Given the description of an element on the screen output the (x, y) to click on. 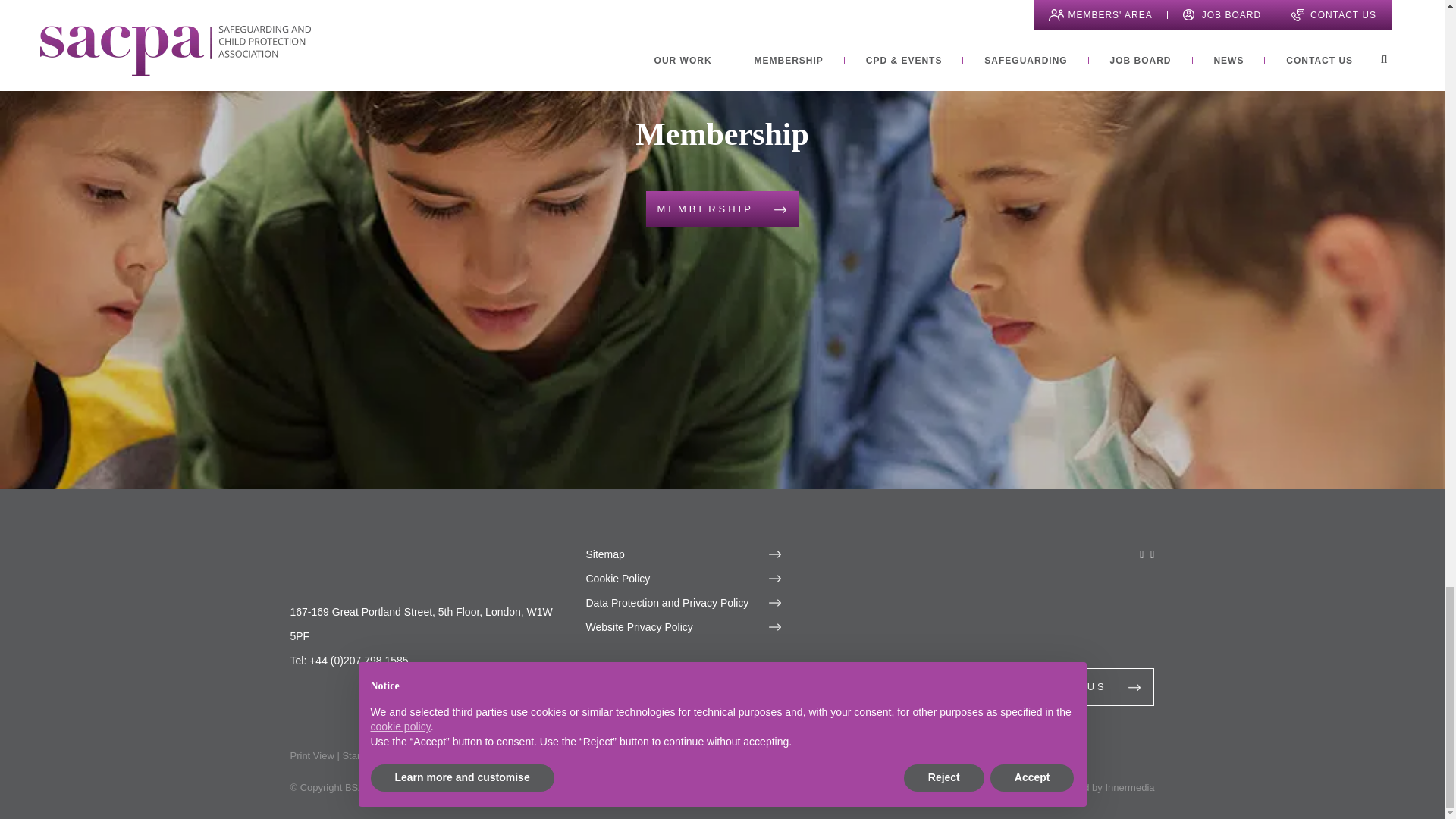
Switch to High Visibility (442, 755)
Switch to Standard Visibility (374, 755)
Switch to Print (311, 755)
